Given the description of an element on the screen output the (x, y) to click on. 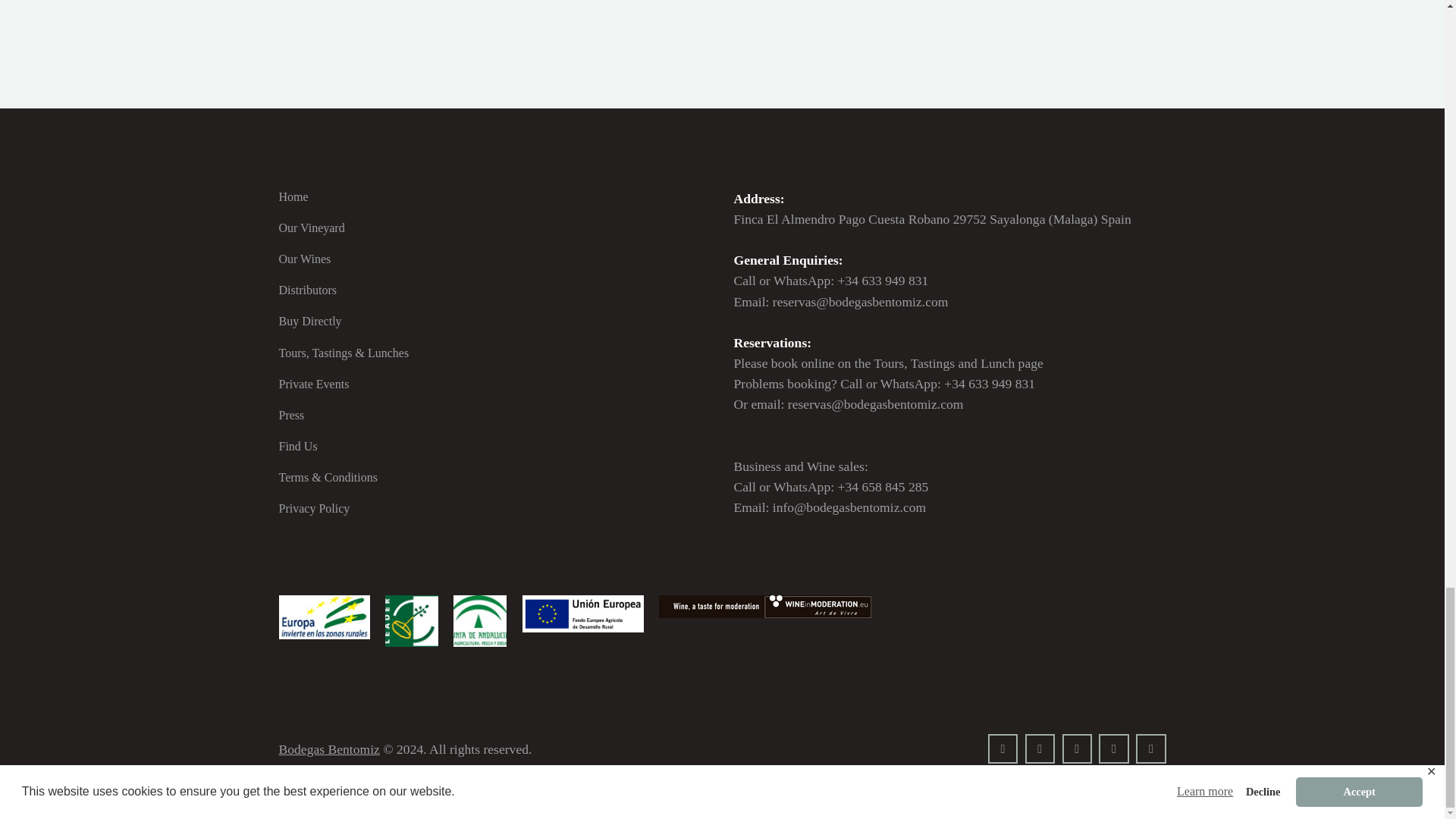
Privacy Policy (314, 508)
Private Events (314, 383)
Home (293, 196)
Distributors (307, 289)
Find Us (298, 445)
Buy Directly (310, 320)
Our Vineyard (312, 227)
Our Wines (305, 258)
Press (291, 414)
